Given the description of an element on the screen output the (x, y) to click on. 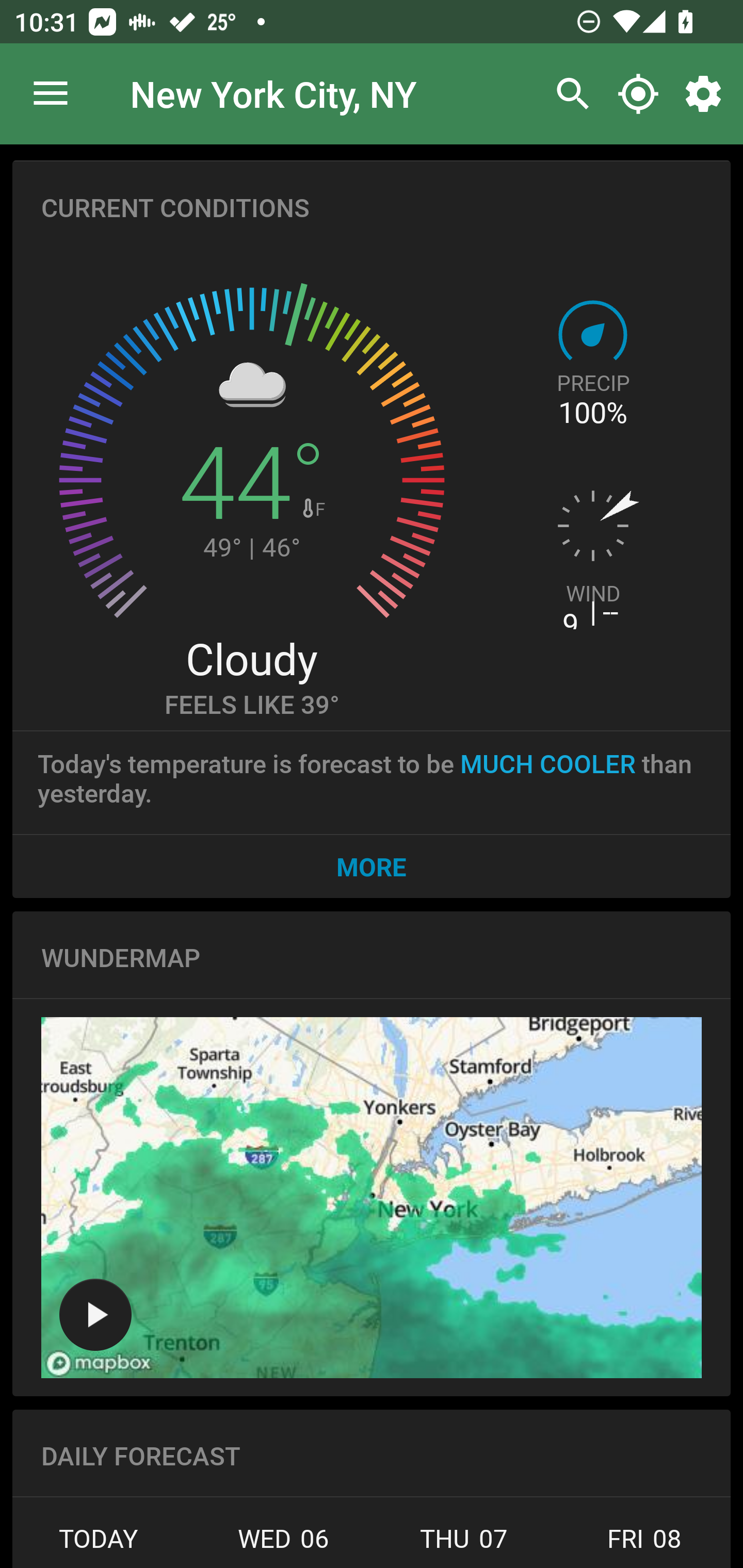
Press to open location manager. (50, 93)
Search for location (567, 94)
Select GPS location (637, 94)
Settings (706, 94)
New York City, NY (273, 92)
100% (592, 412)
Cloudy (251, 657)
MORE (371, 865)
Weather Map (371, 1197)
Weather Map (95, 1314)
TODAY (102, 1544)
WED 06 (283, 1544)
THU 07 (463, 1544)
FRI 08 (642, 1544)
